Given the description of an element on the screen output the (x, y) to click on. 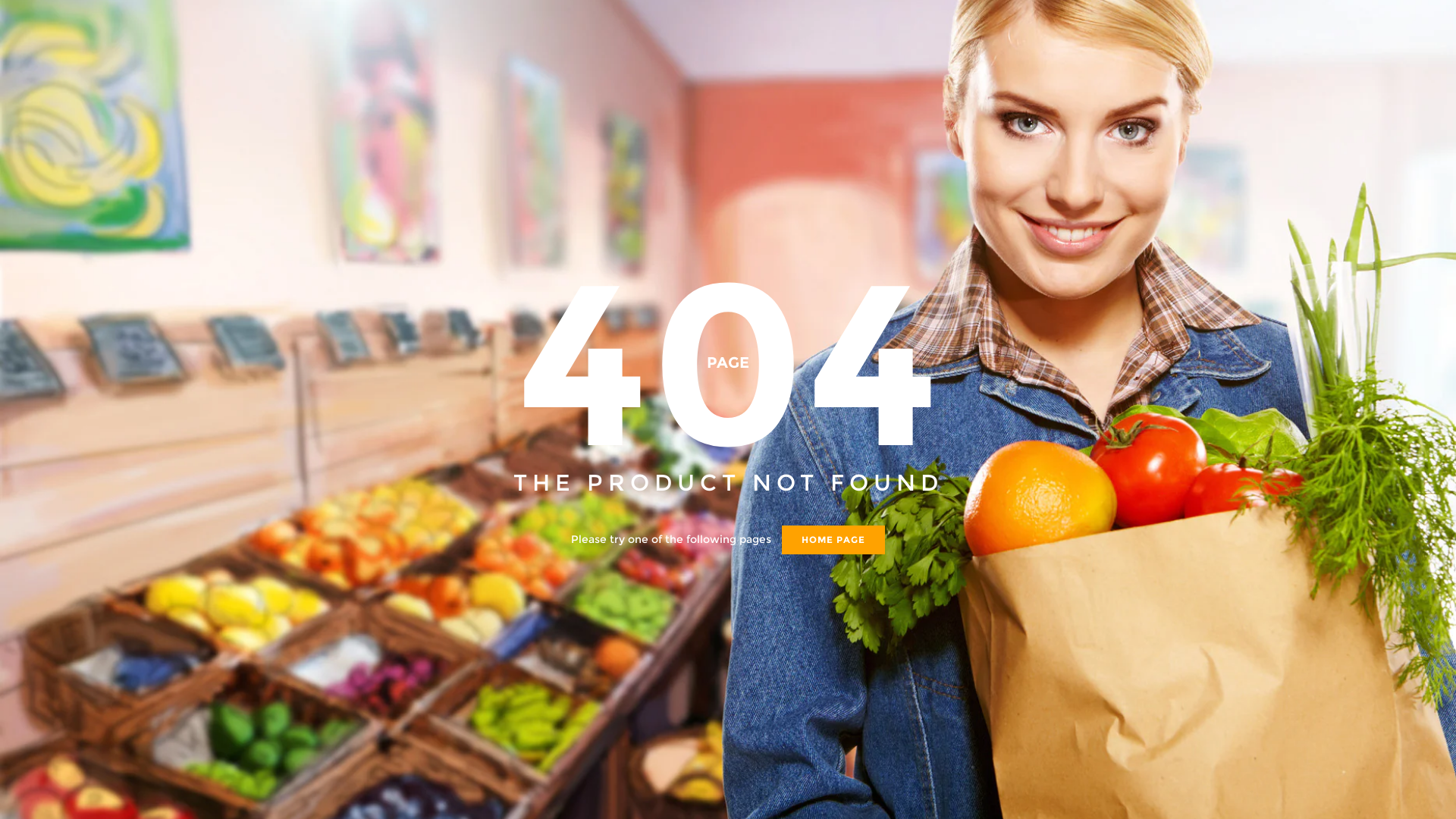
HOME PAGE Element type: text (832, 538)
